Given the description of an element on the screen output the (x, y) to click on. 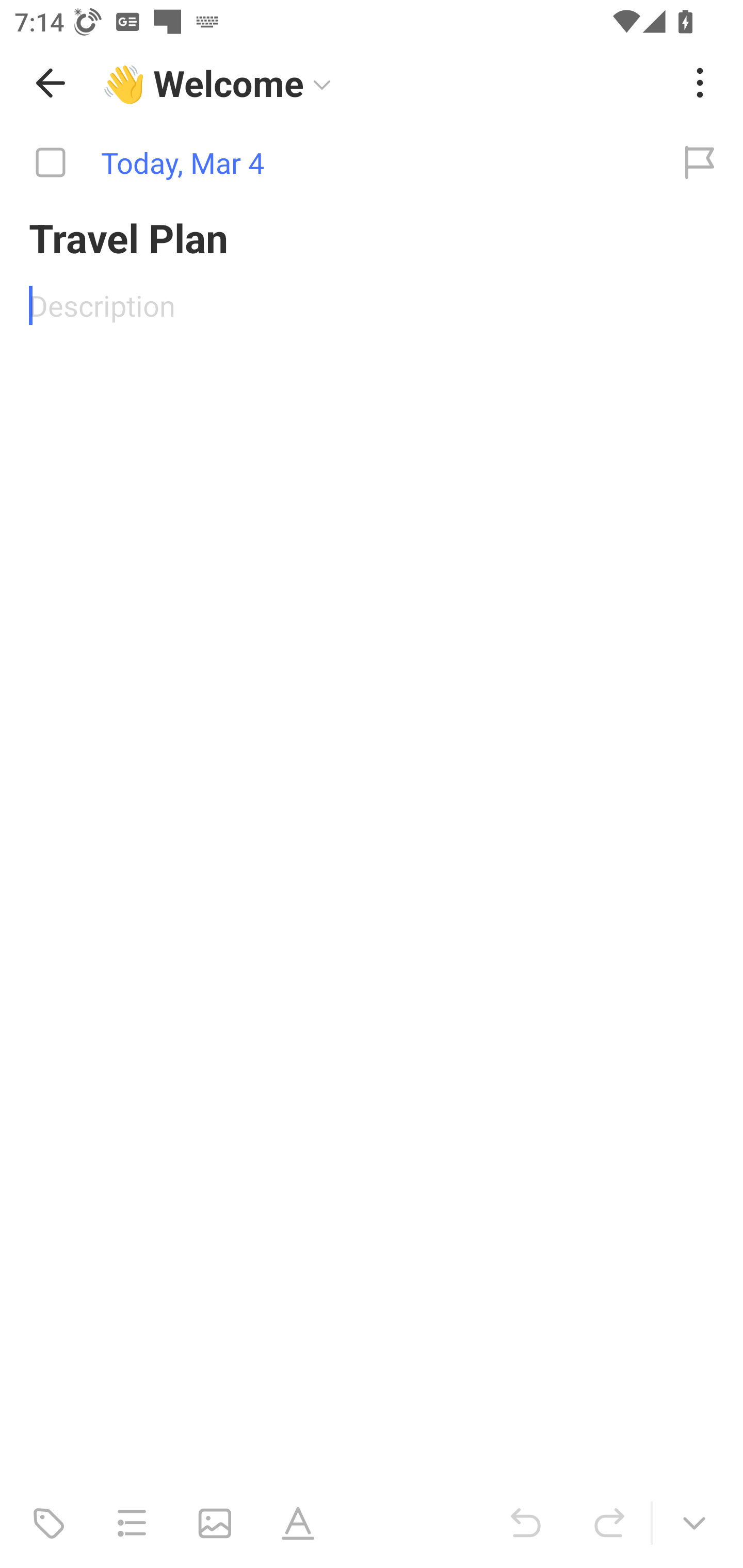
👋 Welcome (384, 82)
Today, Mar 4  (328, 163)
Travel Plan (371, 237)
Description (371, 304)
